Given the description of an element on the screen output the (x, y) to click on. 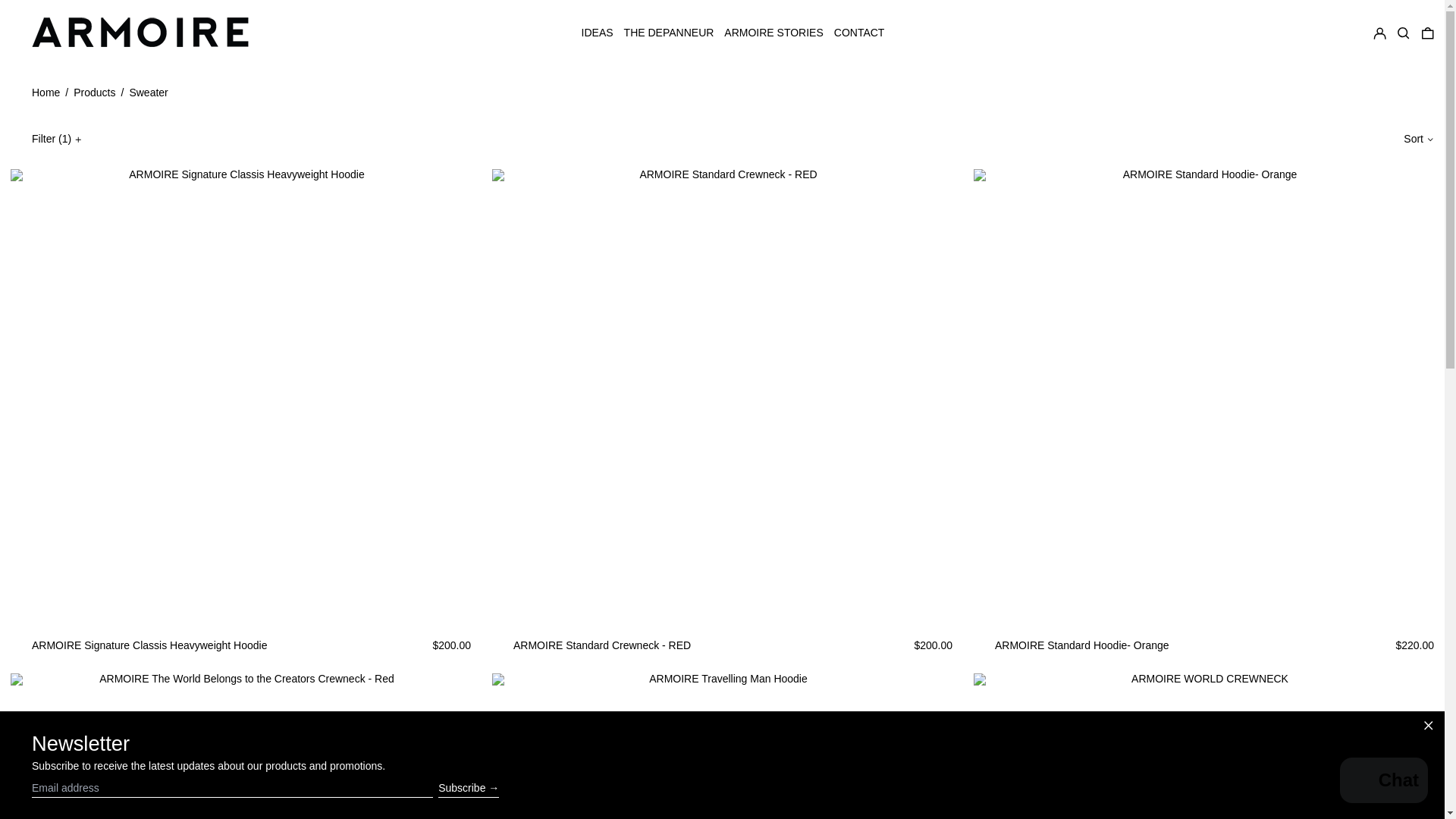
Shopify online store chat (1383, 781)
Products (94, 92)
Sweater (148, 92)
ARMOIRE STORIES (772, 33)
IDEAS (596, 33)
THE DEPANNEUR (669, 33)
CONTACT (859, 33)
